Given the description of an element on the screen output the (x, y) to click on. 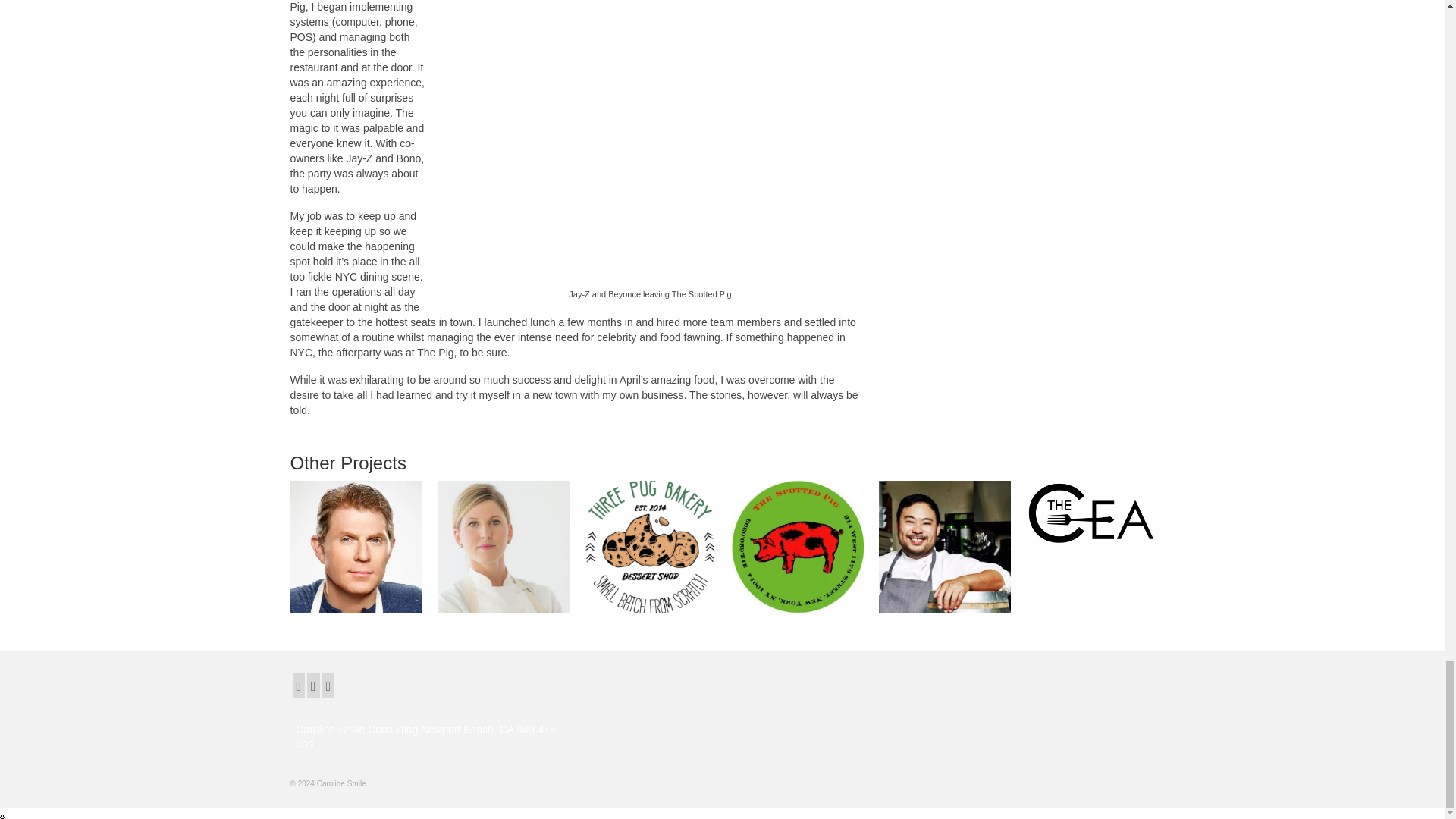
Bobby Flay (355, 546)
